Given the description of an element on the screen output the (x, y) to click on. 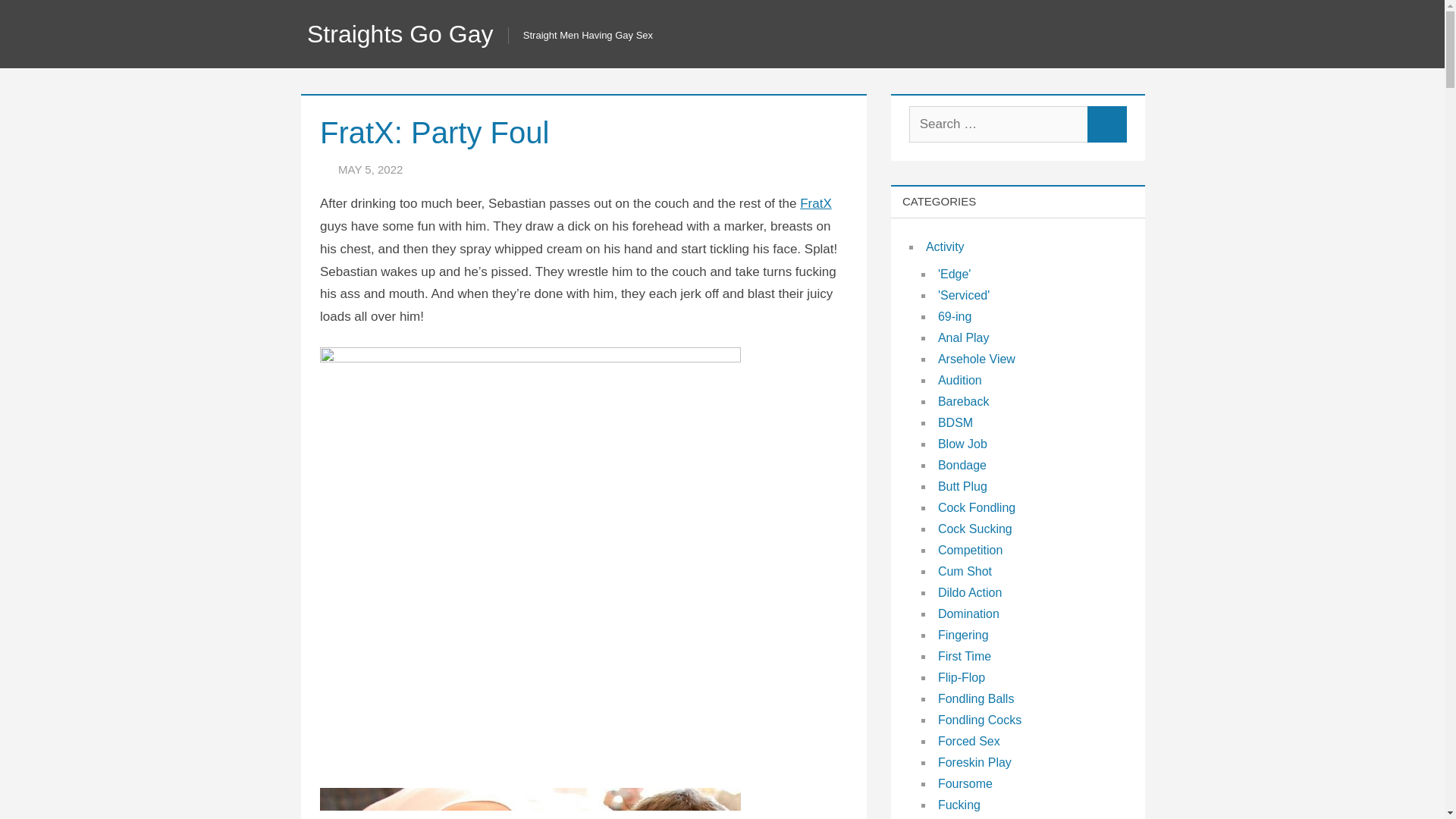
Straights Go Gay (400, 33)
MAY 5, 2022 (370, 169)
FratX (815, 203)
11:00 pm (370, 169)
TIMBO (456, 169)
FraternityX (815, 203)
View all posts by timbo (456, 169)
FraternityX: Party Foul (530, 803)
